Given the description of an element on the screen output the (x, y) to click on. 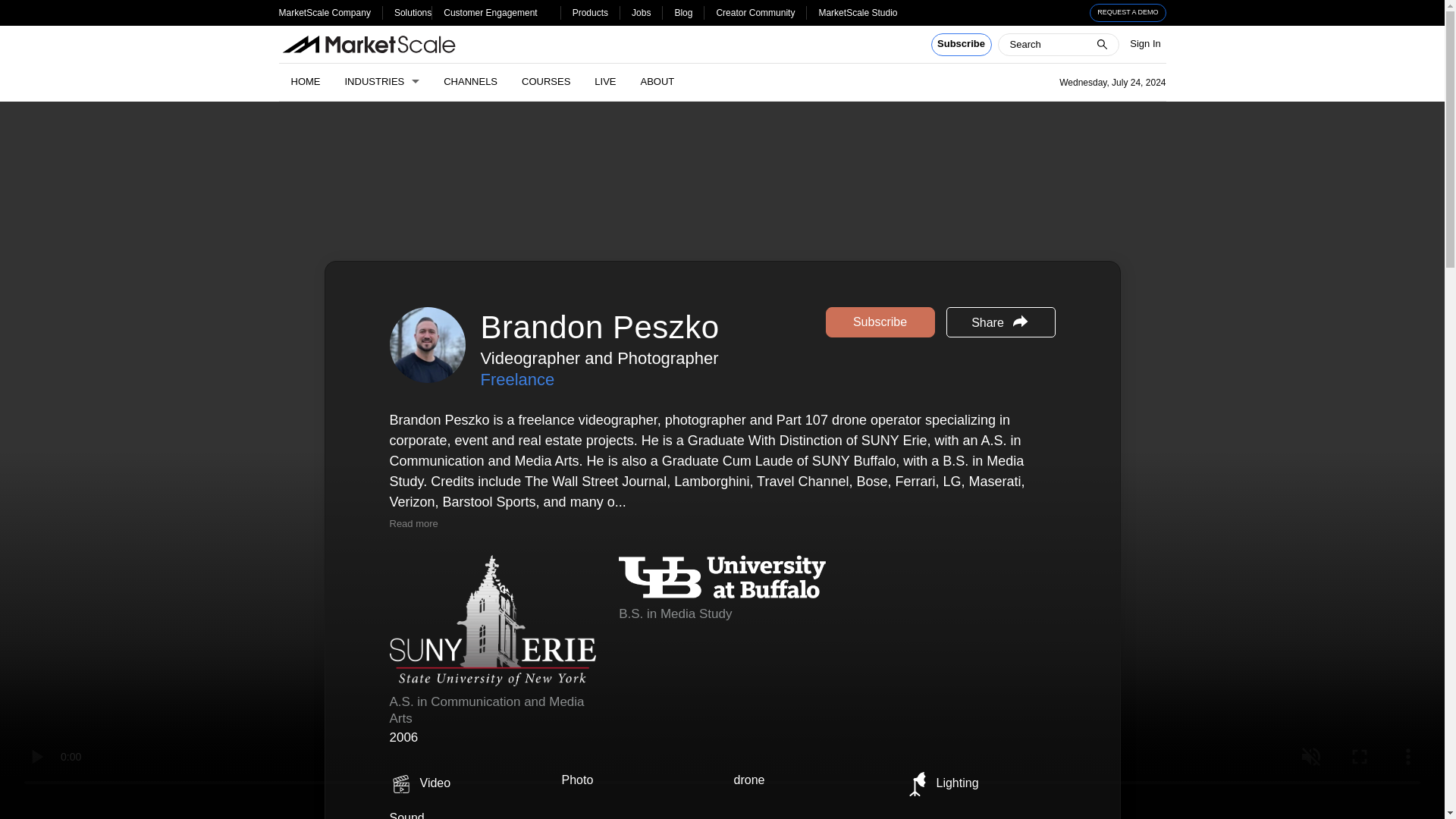
Subscribe (961, 44)
Blog (683, 12)
Creator Community (755, 12)
MarketScale Company (325, 12)
Search (21, 7)
Customer Engagement (490, 12)
REQUEST A DEMO (1127, 13)
Solutions (412, 12)
MarketScale Studio (857, 12)
Jobs (640, 12)
Products (590, 12)
